Given the description of an element on the screen output the (x, y) to click on. 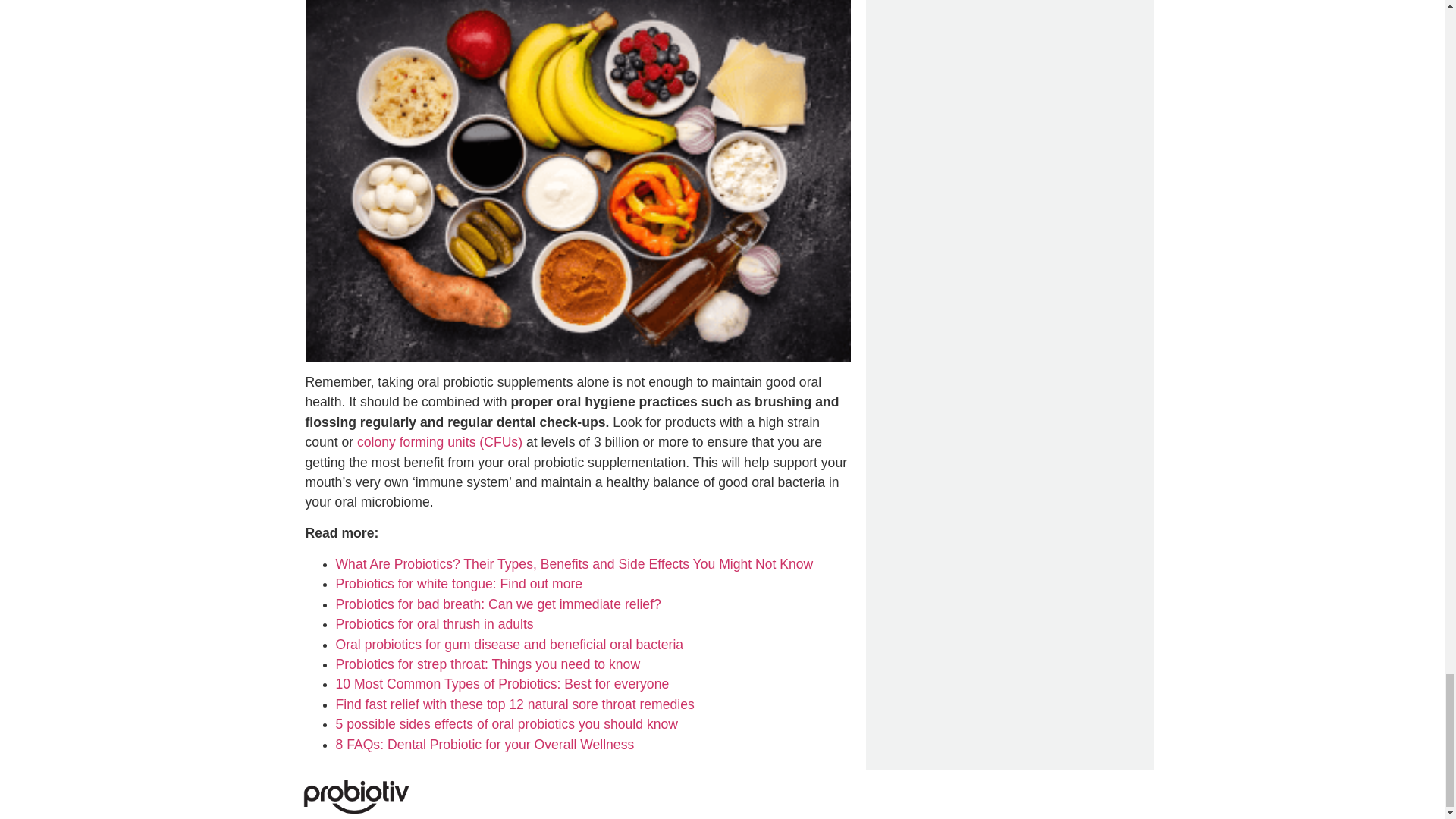
5 possible (366, 724)
Oral probiotics for gum disease and beneficial oral bacteria (508, 644)
10 Most Common Types of Probiotics: Best for everyone (501, 683)
Probiotics for white tongue: Find out more (458, 583)
Probiotics for strep throat: Things you need to know (487, 663)
Probiotics for oral thrush in adults (433, 623)
sides effects of oral probiotics (486, 724)
Probiotics for bad breath: Can we get immediate relief? (497, 604)
